Given the description of an element on the screen output the (x, y) to click on. 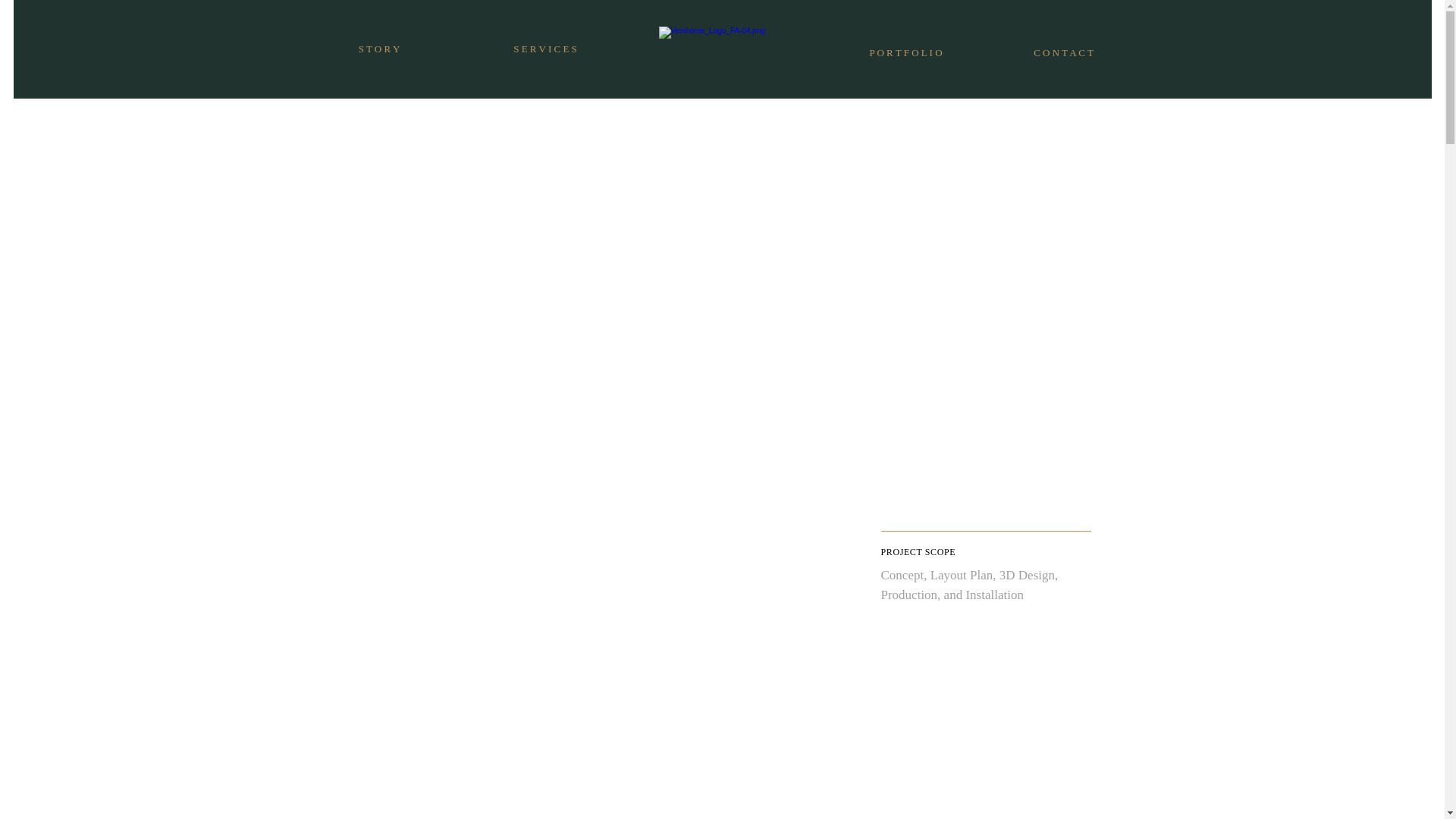
S E R V I C E S (544, 49)
S T O R Y (378, 49)
C O N T A C T (1062, 52)
P O R T F O L I O (905, 52)
